Given the description of an element on the screen output the (x, y) to click on. 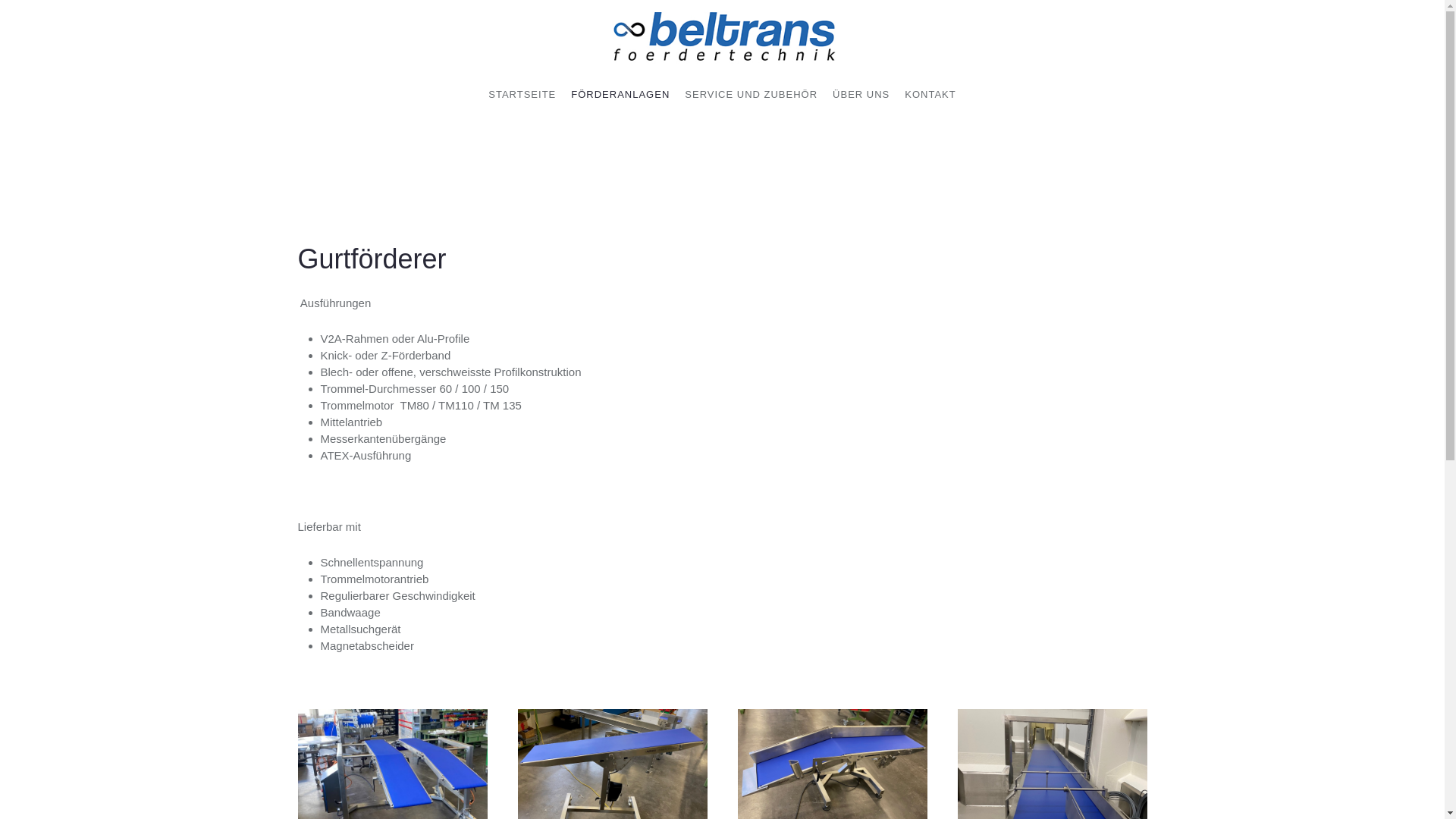
STARTSEITE Element type: text (521, 94)
KONTAKT Element type: text (930, 94)
